Given the description of an element on the screen output the (x, y) to click on. 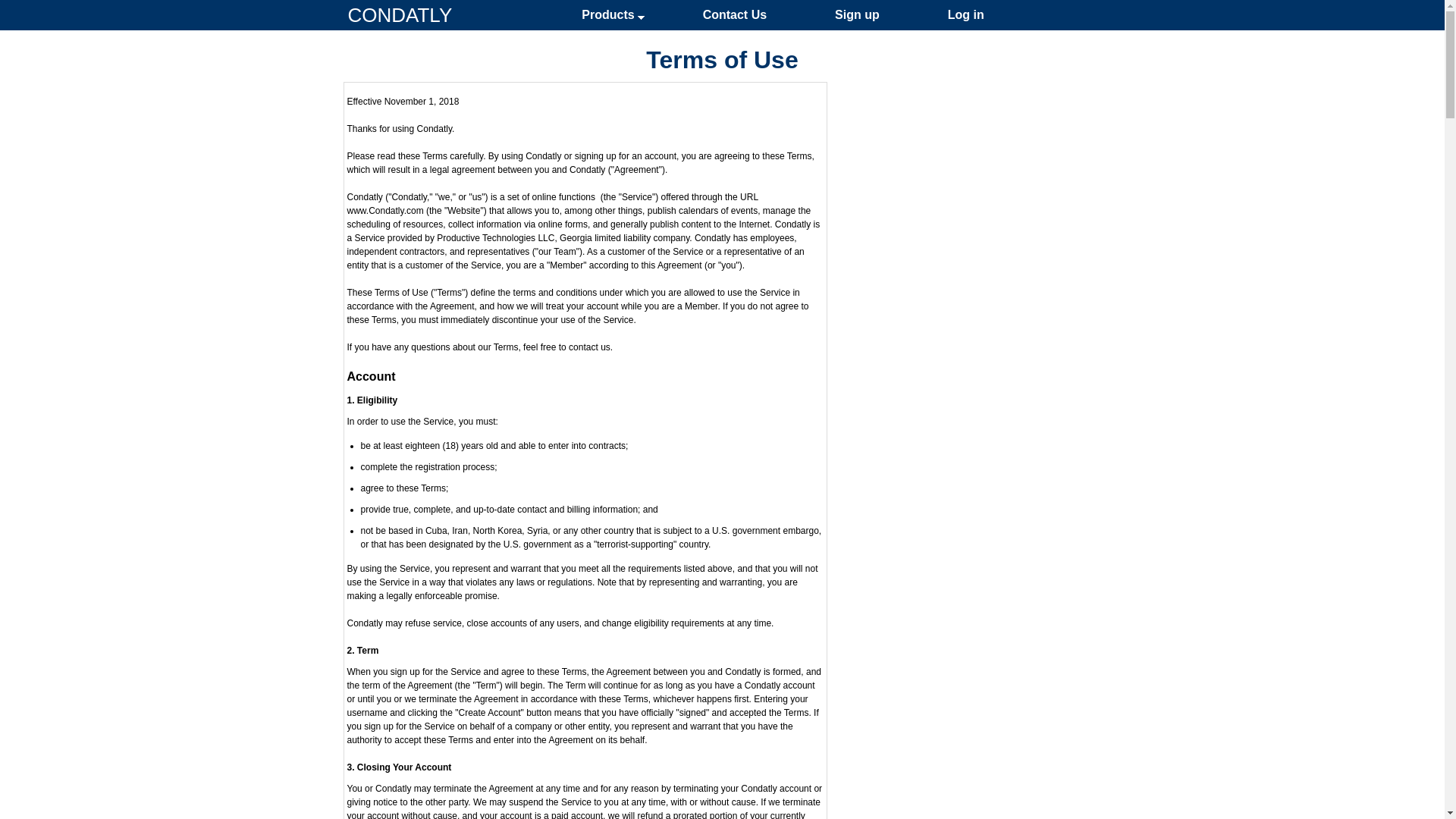
Products (607, 15)
Sign up (857, 15)
Log in (965, 15)
Contact Us (734, 15)
CONDATLY (399, 15)
